Given the description of an element on the screen output the (x, y) to click on. 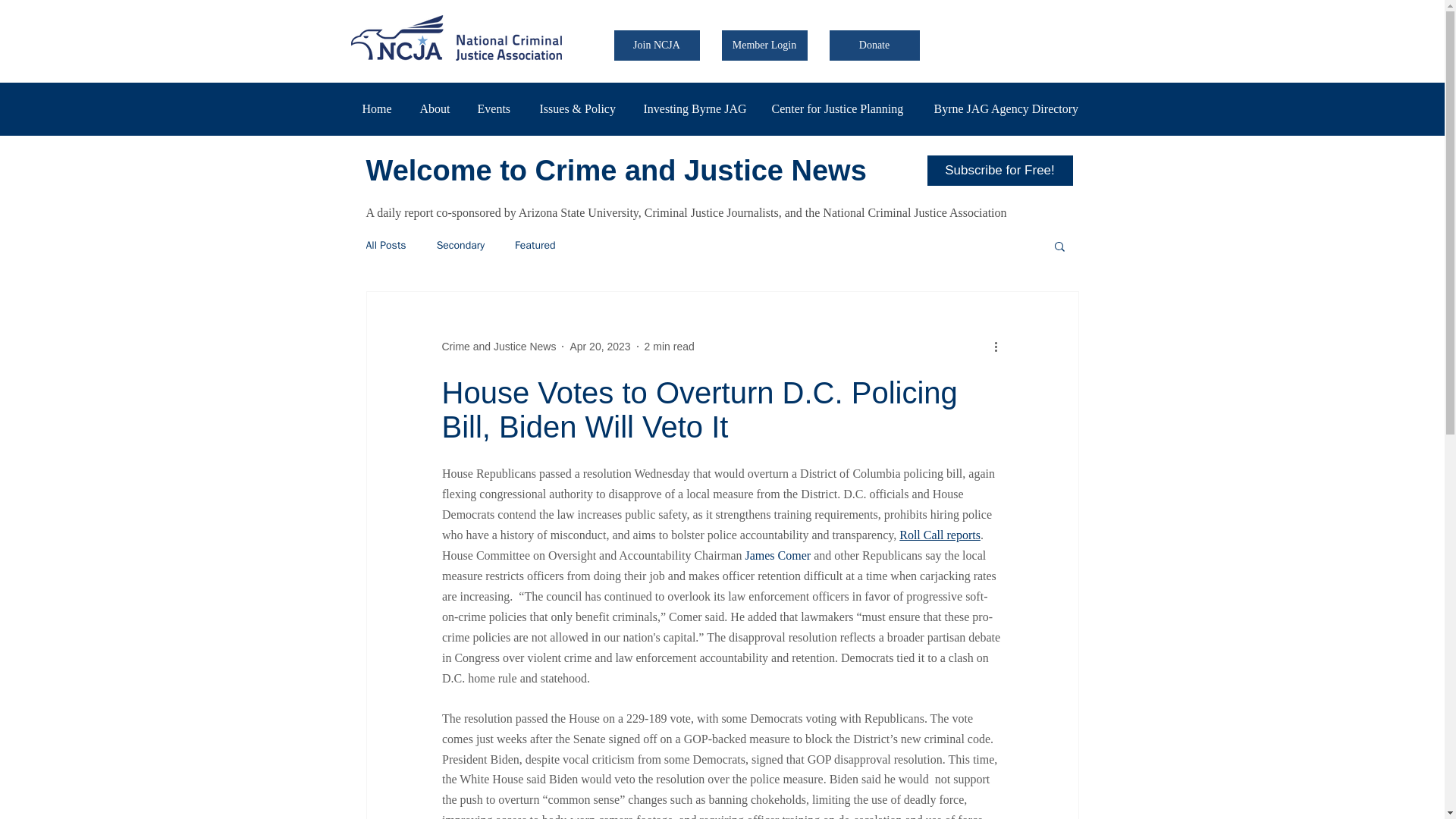
Apr 20, 2023 (599, 346)
Center for Justice Planning (840, 108)
Investing Byrne JAG (695, 108)
About (436, 108)
Member Login (765, 45)
2 min read (669, 346)
Home (378, 108)
Crime and Justice News (498, 346)
Donate (874, 45)
Join NCJA (657, 45)
